Given the description of an element on the screen output the (x, y) to click on. 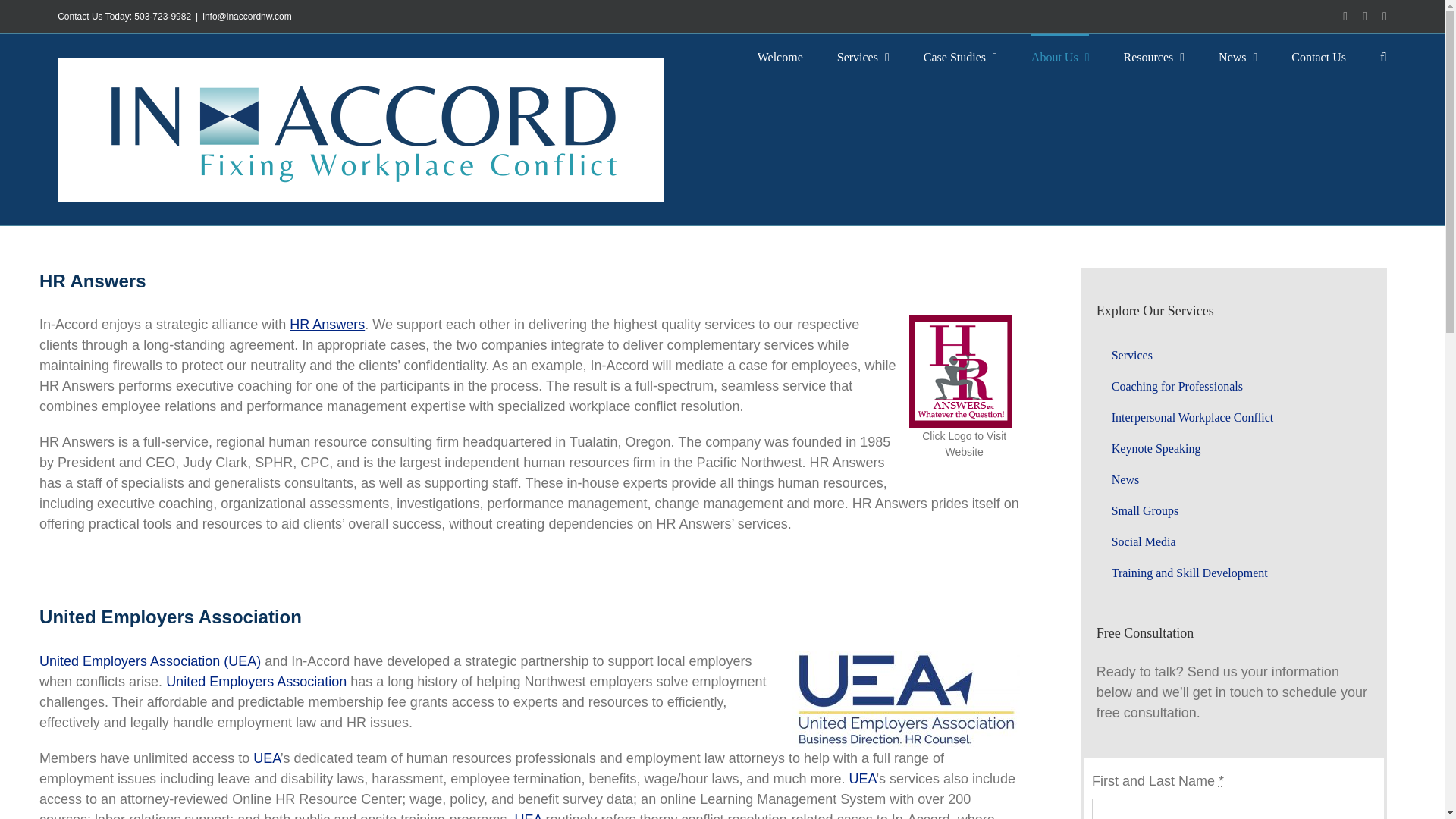
HR Answers (327, 324)
Services (863, 55)
Contact Us (1318, 55)
HR Answers (327, 324)
Resources (1153, 55)
United Employers Association (255, 681)
About Us (1059, 55)
Back to Parent Page (1233, 355)
Welcome (780, 55)
Case Studies (960, 55)
